Given the description of an element on the screen output the (x, y) to click on. 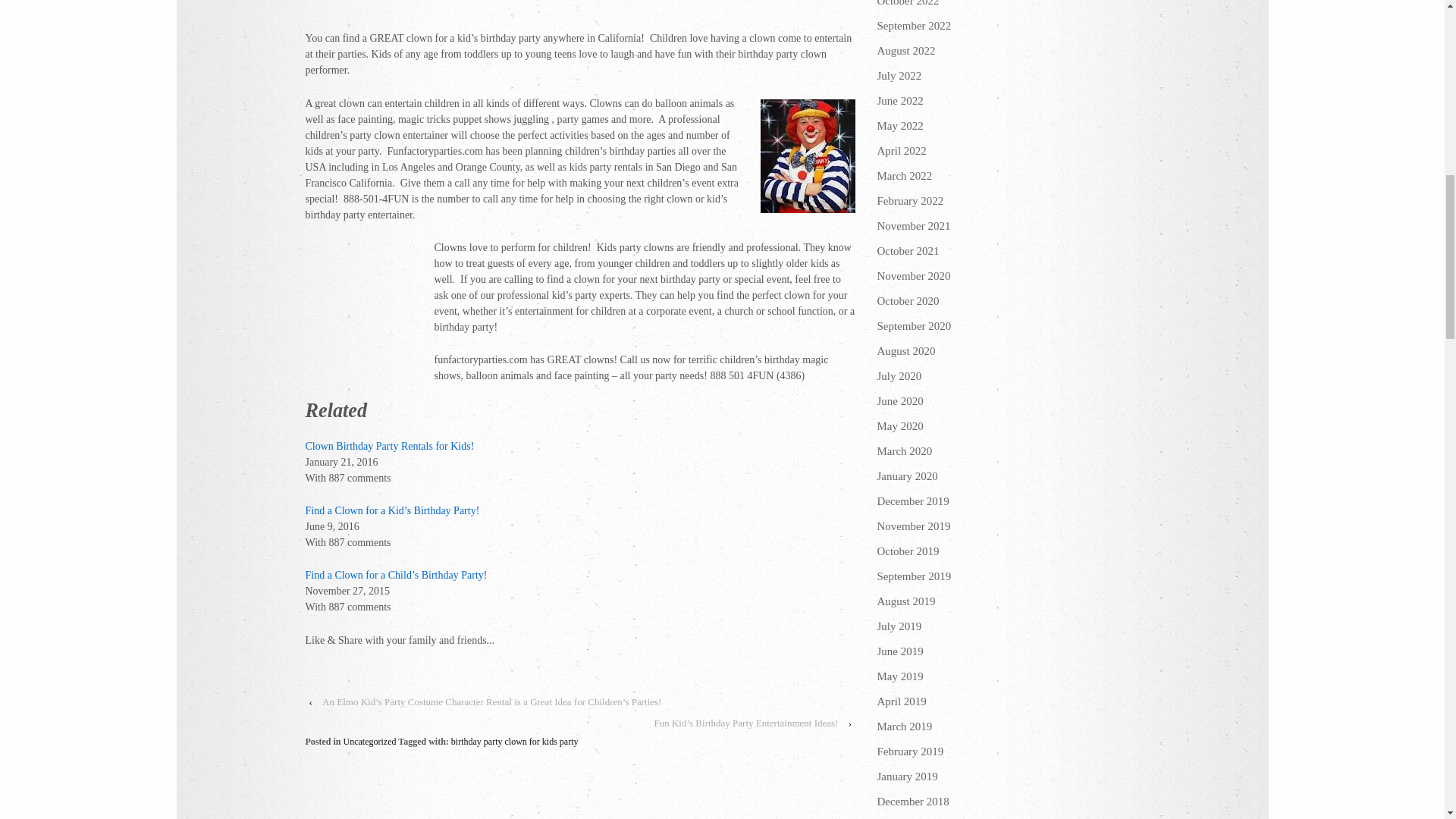
Clown Birthday Party Rentals for Kids! (389, 445)
Clown Birthday Party Rentals for Kids! (389, 445)
